Given the description of an element on the screen output the (x, y) to click on. 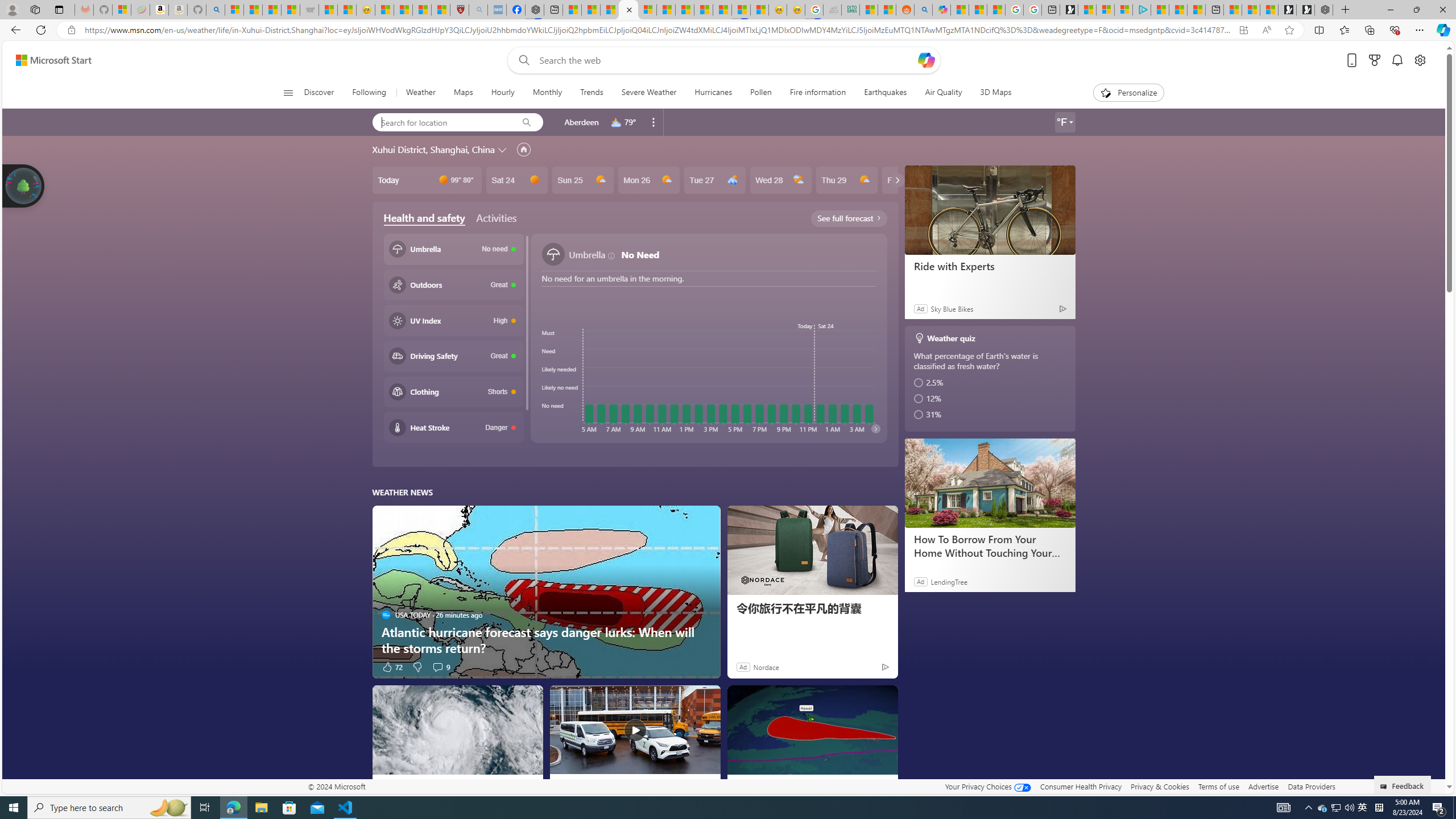
Tue 27 (714, 180)
Air Quality (943, 92)
Health and safety (423, 218)
